Given the description of an element on the screen output the (x, y) to click on. 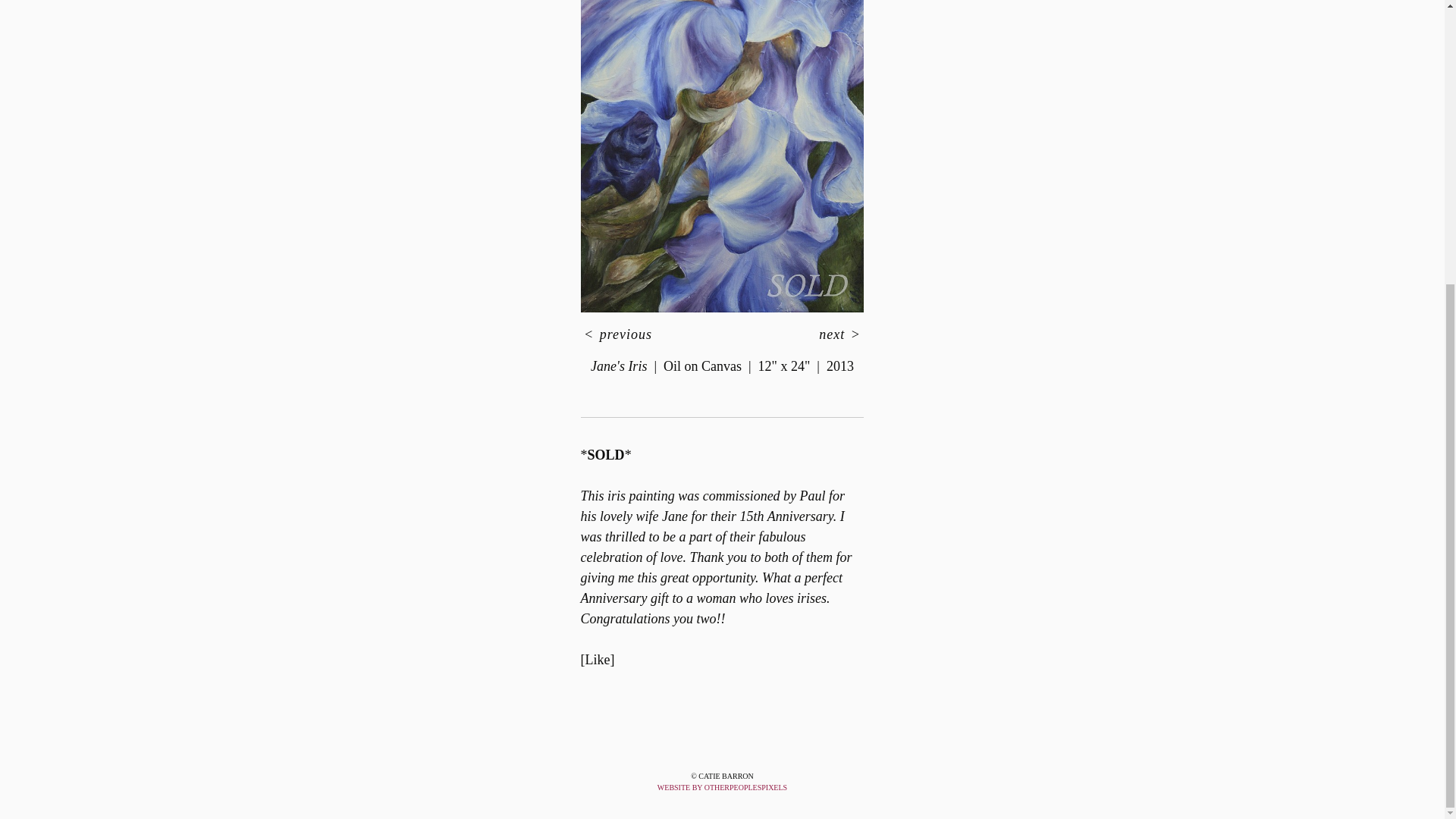
Jane's Iris (722, 156)
